Given the description of an element on the screen output the (x, y) to click on. 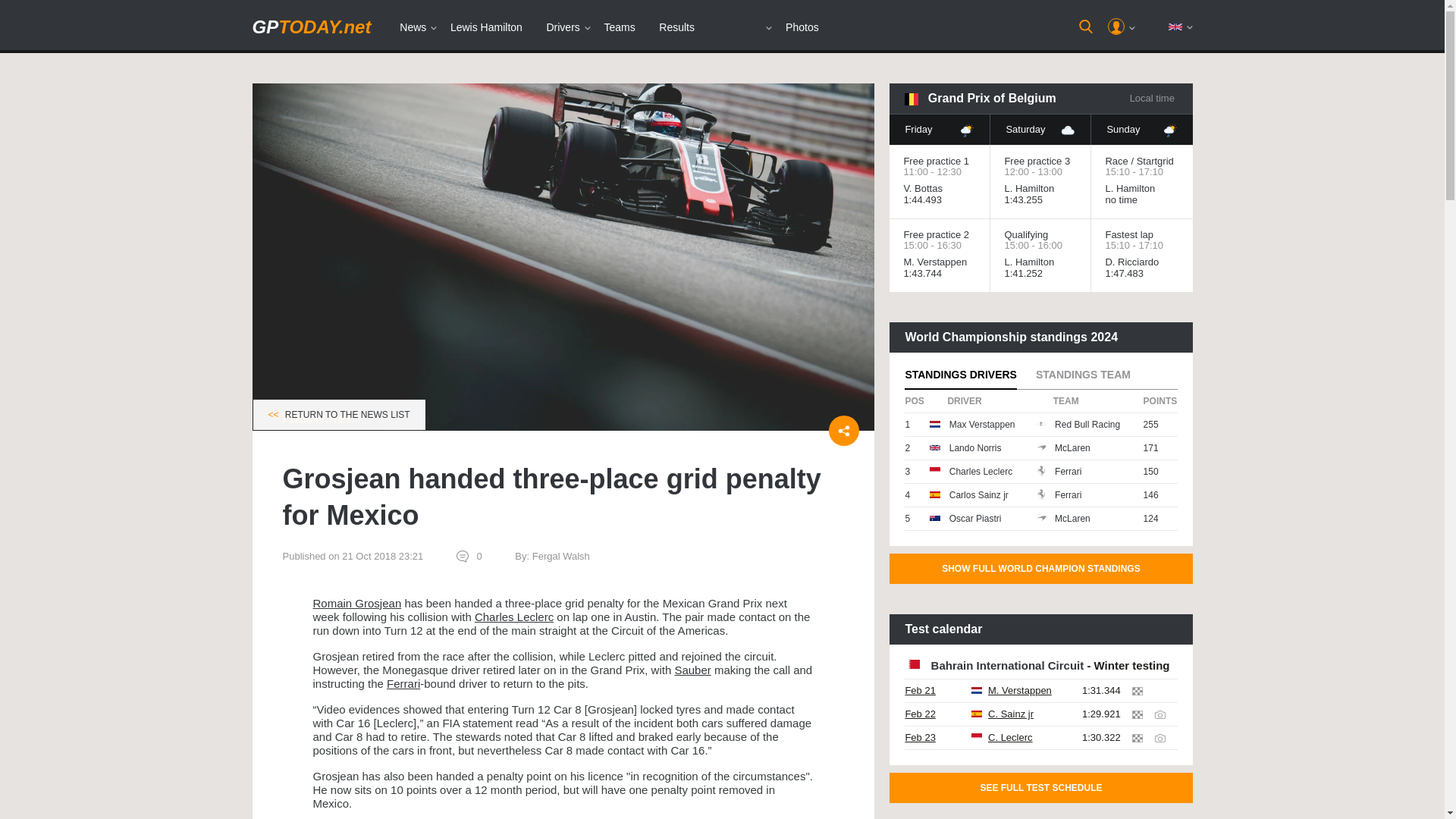
Photos (801, 26)
Teams (618, 26)
Results (675, 26)
Drivers (562, 26)
Lewis Hamilton (485, 26)
Calendar (740, 26)
GPTODAY.net (311, 26)
News (412, 26)
